Given the description of an element on the screen output the (x, y) to click on. 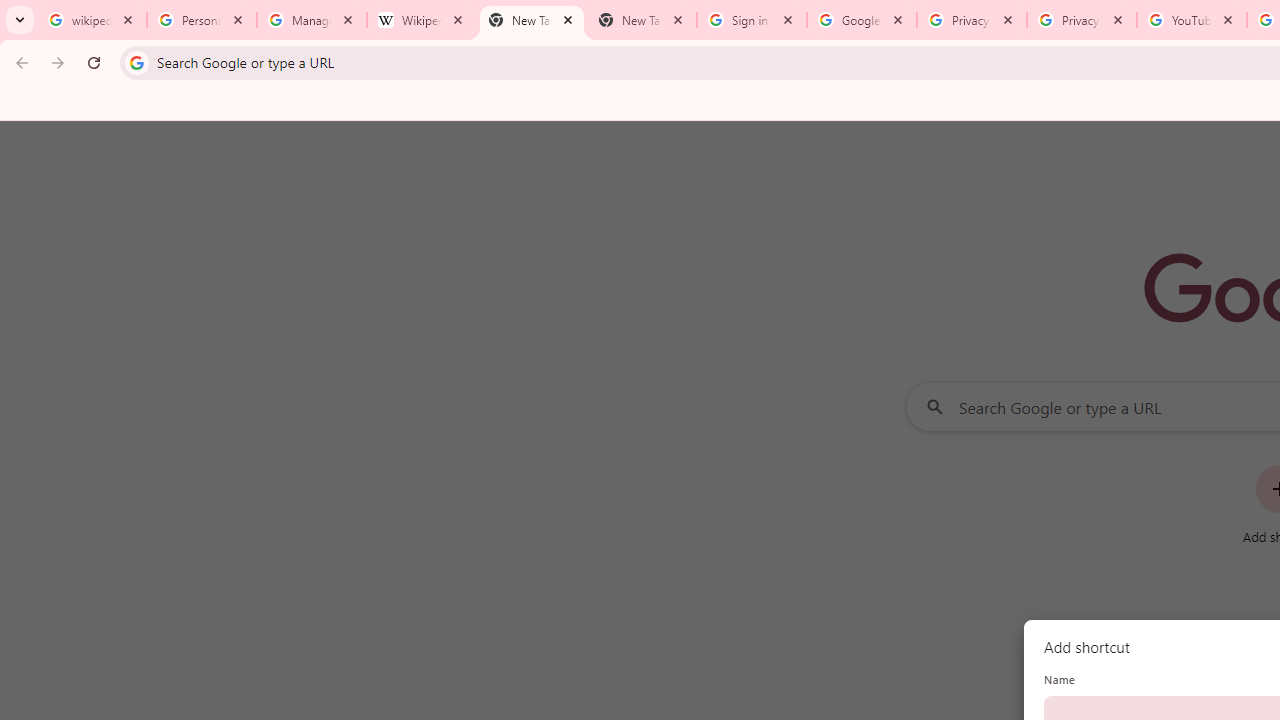
Google Drive: Sign-in (861, 20)
Personalization & Google Search results - Google Search Help (202, 20)
Sign in - Google Accounts (752, 20)
New Tab (642, 20)
